Given the description of an element on the screen output the (x, y) to click on. 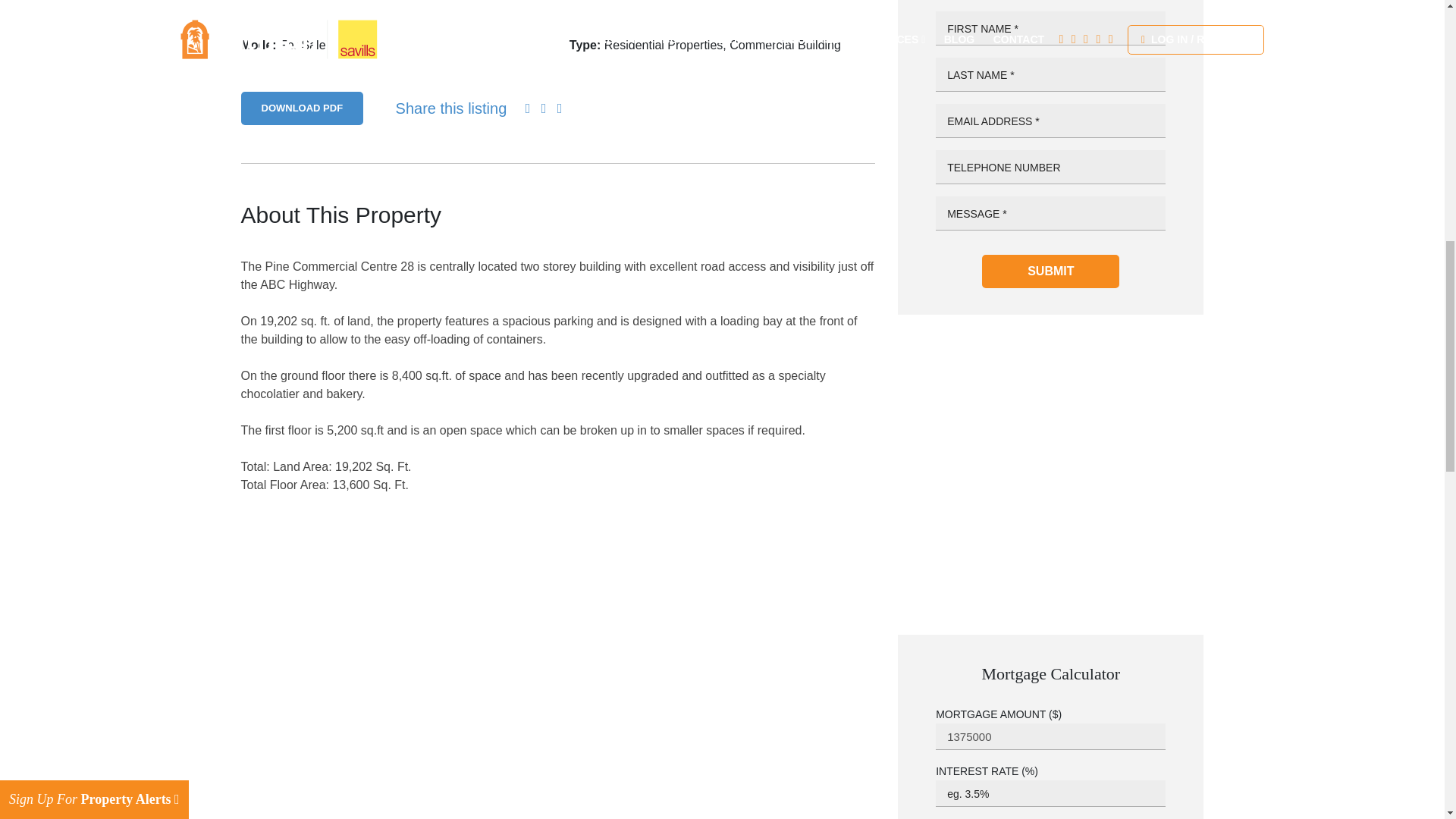
1375000 (1051, 736)
